Given the description of an element on the screen output the (x, y) to click on. 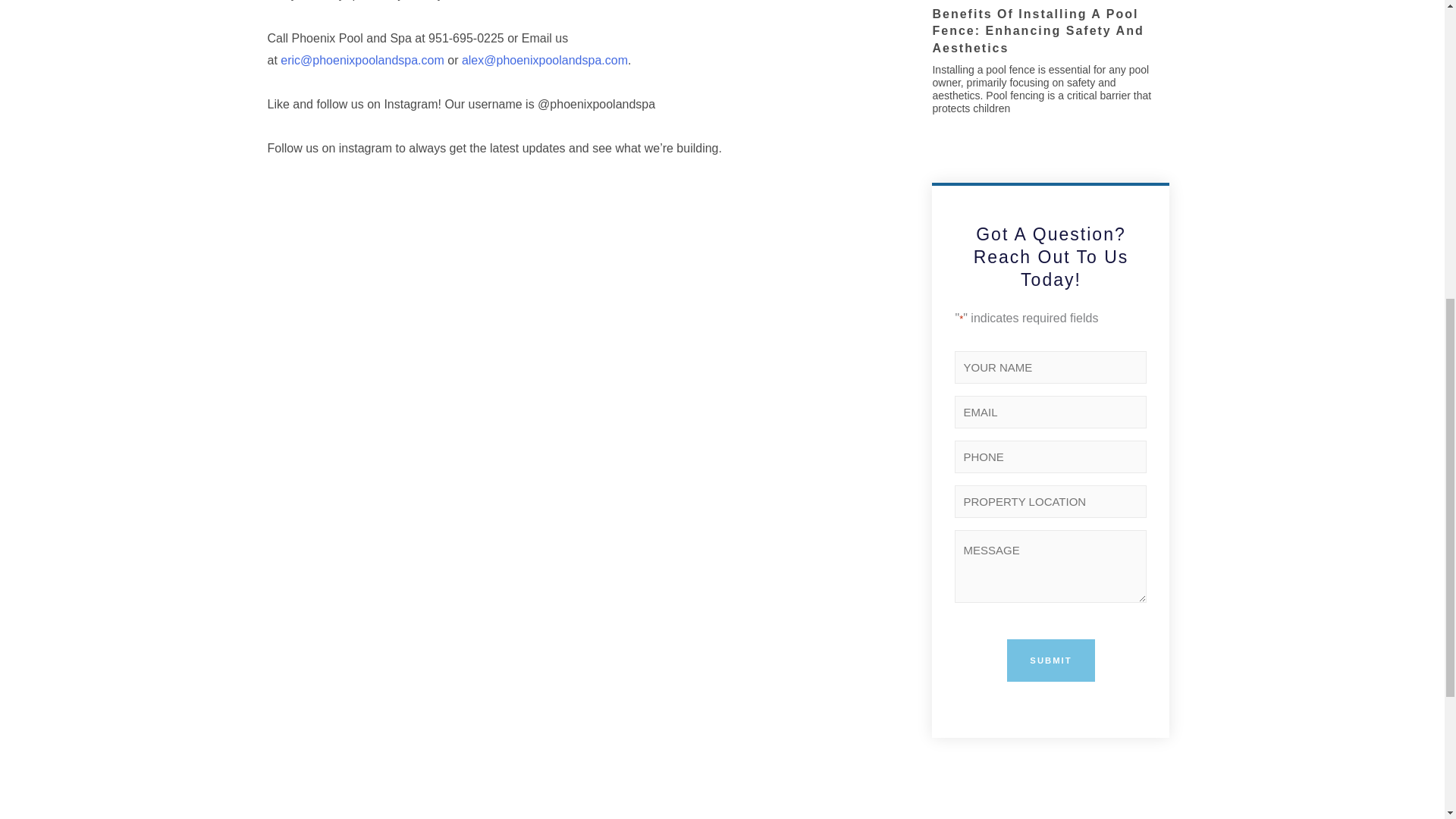
Submit (1050, 660)
Submit (1050, 660)
